Given the description of an element on the screen output the (x, y) to click on. 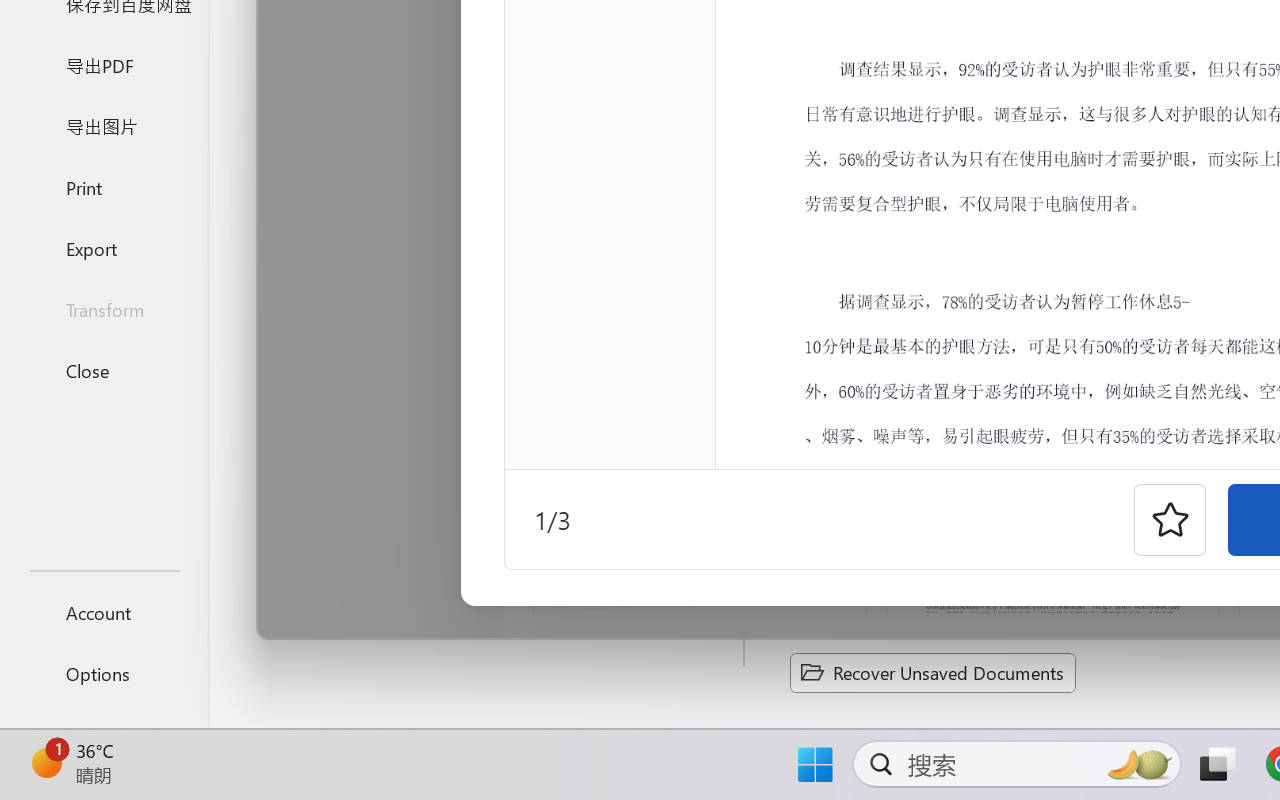
Print (104, 186)
Options (104, 673)
Recover Unsaved Documents (932, 672)
Account (104, 612)
Export (104, 248)
Transform (104, 309)
